Given the description of an element on the screen output the (x, y) to click on. 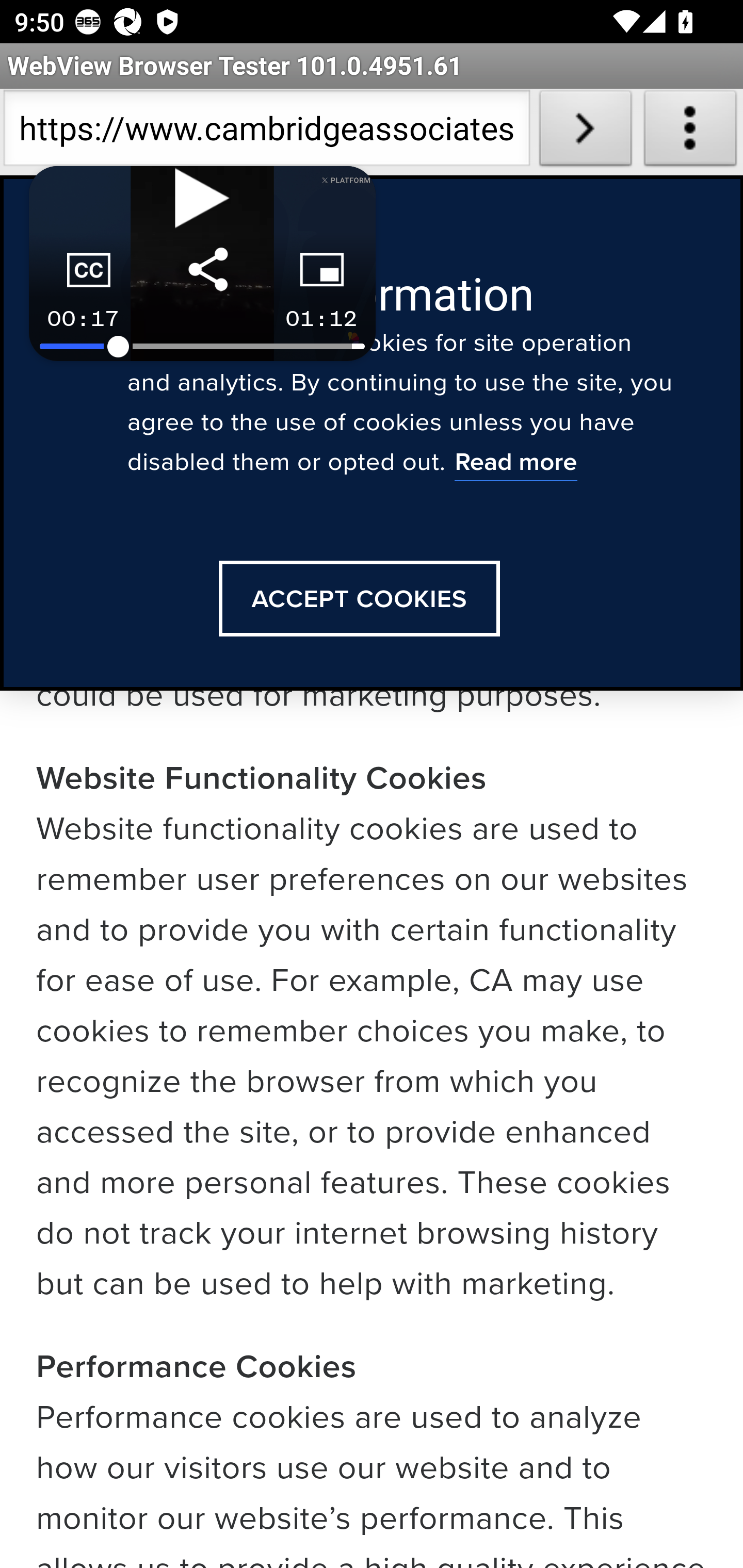
Load URL (585, 132)
About WebView (690, 132)
Read more (515, 464)
ACCEPT COOKIES (359, 600)
